Given the description of an element on the screen output the (x, y) to click on. 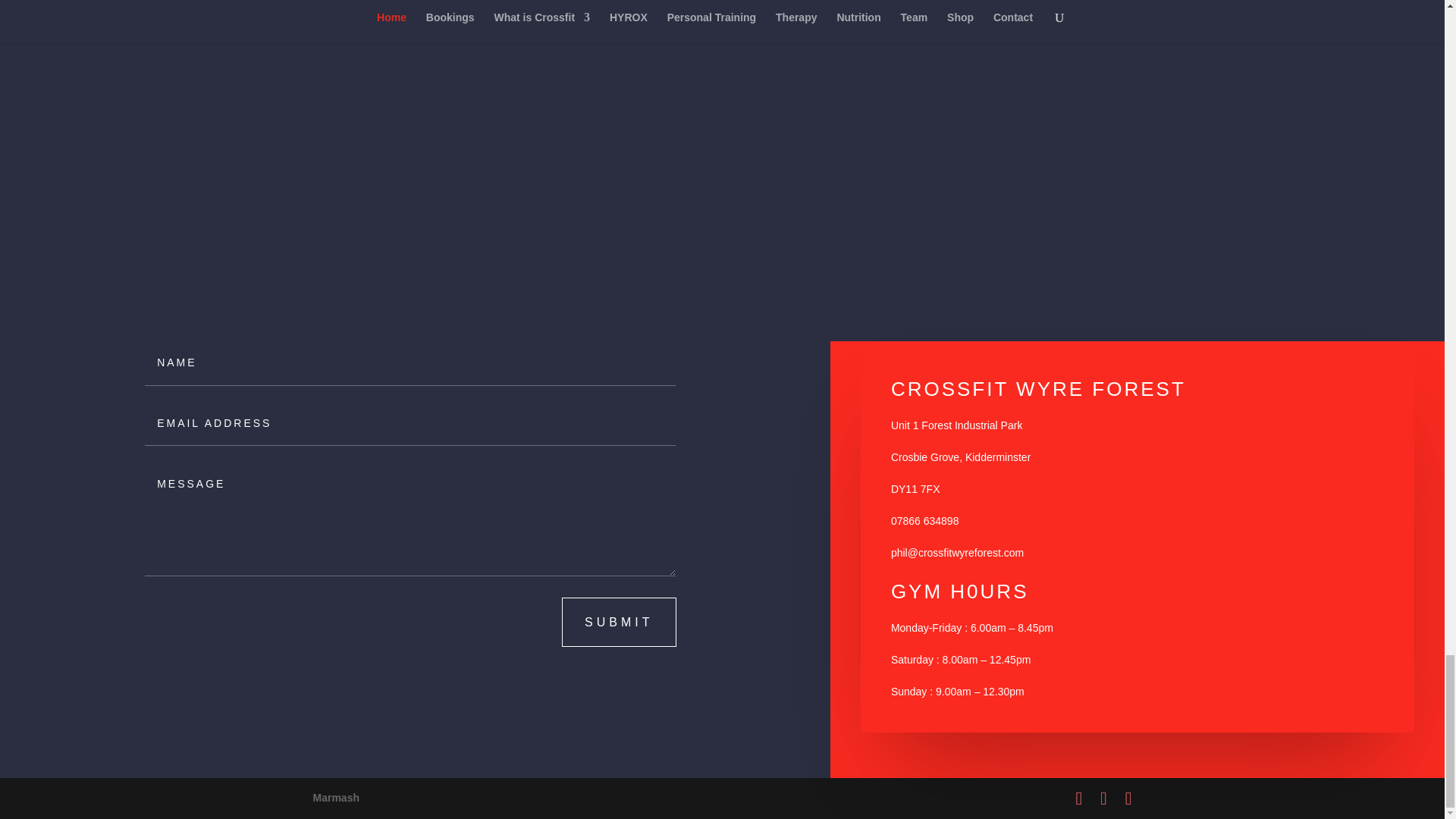
Marmash (335, 797)
CrossFit Journal: The Performance-Based Lifestyle Resource (1069, 304)
